Given the description of an element on the screen output the (x, y) to click on. 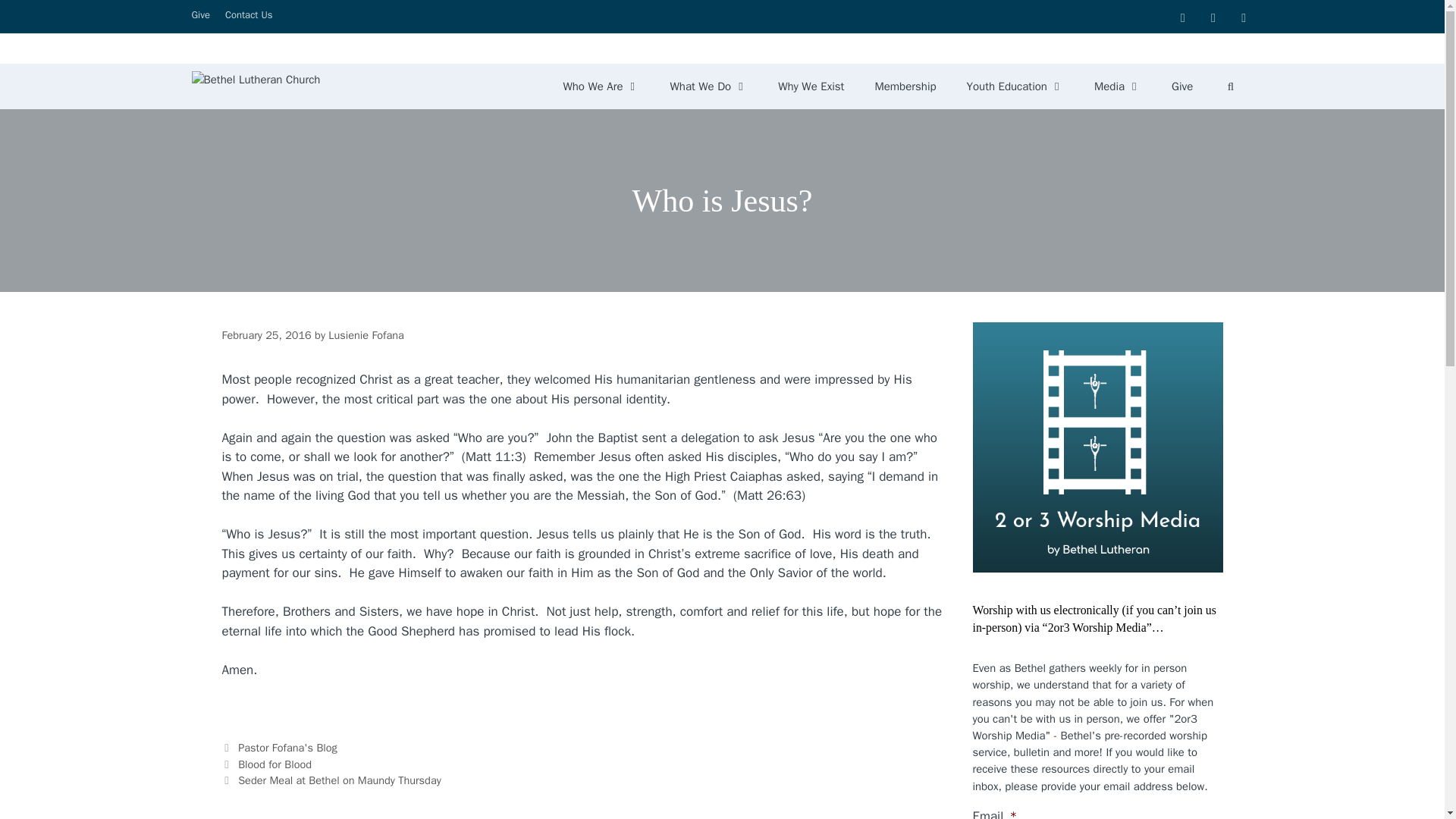
What We Do (708, 85)
Lusienie Fofana (366, 335)
Contact Us (249, 14)
Bethel Lutheran Church (255, 85)
View all posts by Lusienie Fofana (366, 335)
Youth Education (1015, 85)
Media (1117, 85)
Blood for Blood (274, 764)
Membership (904, 85)
Seder Meal at Bethel on Maundy Thursday (339, 780)
